Given the description of an element on the screen output the (x, y) to click on. 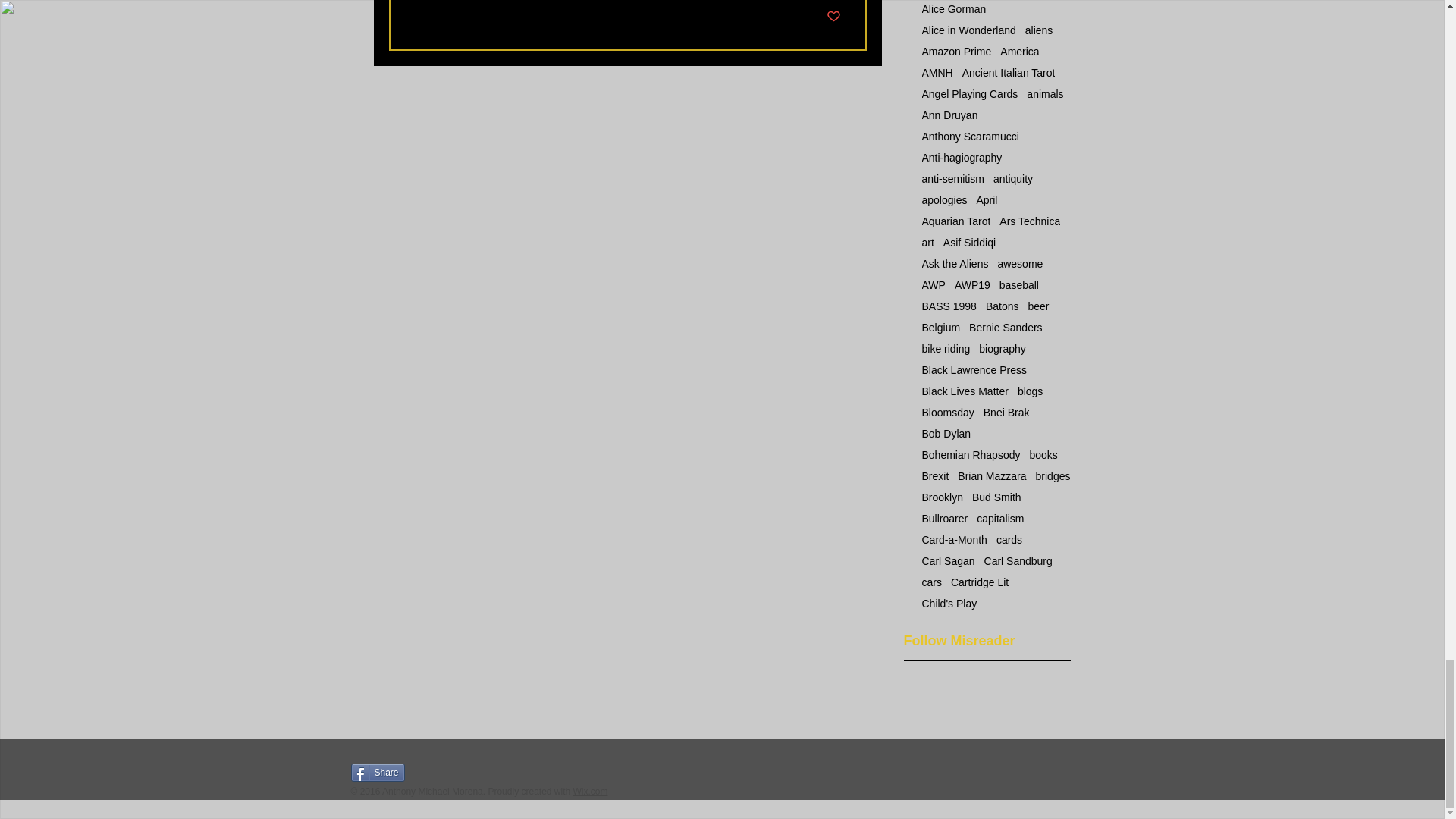
Post not marked as liked (834, 17)
Twitter Tweet (437, 772)
Share (377, 772)
